Given the description of an element on the screen output the (x, y) to click on. 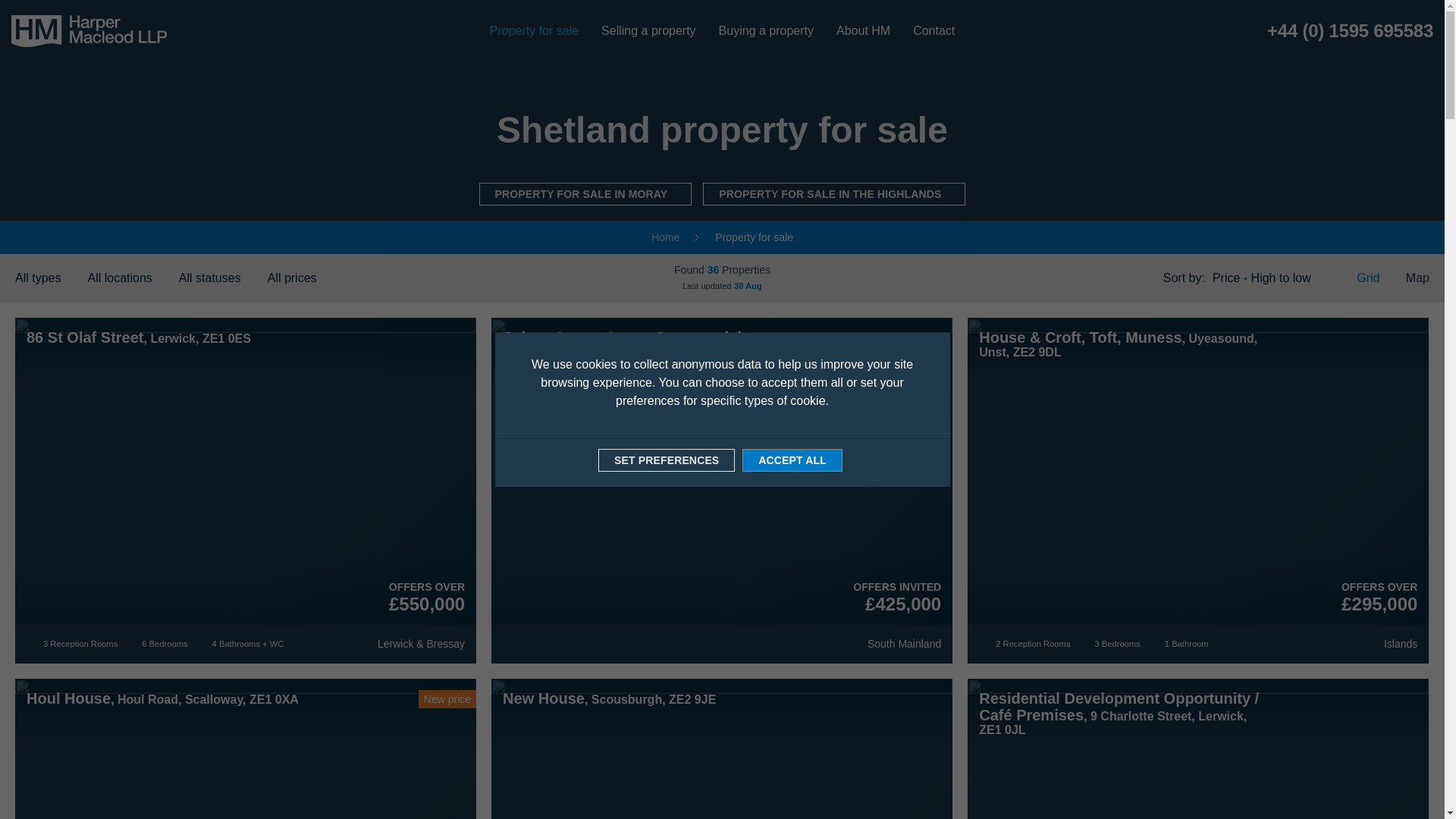
receptions (34, 644)
chevron-down (67, 278)
location (371, 645)
CHEVRON-RIGHT (675, 193)
bathrooms (1155, 644)
location Map (1408, 277)
PROPERTY FOR SALE IN THE HIGHLANDSCHEVRON-RIGHT (834, 193)
th Grid (1359, 277)
Contact (933, 30)
